Given the description of an element on the screen output the (x, y) to click on. 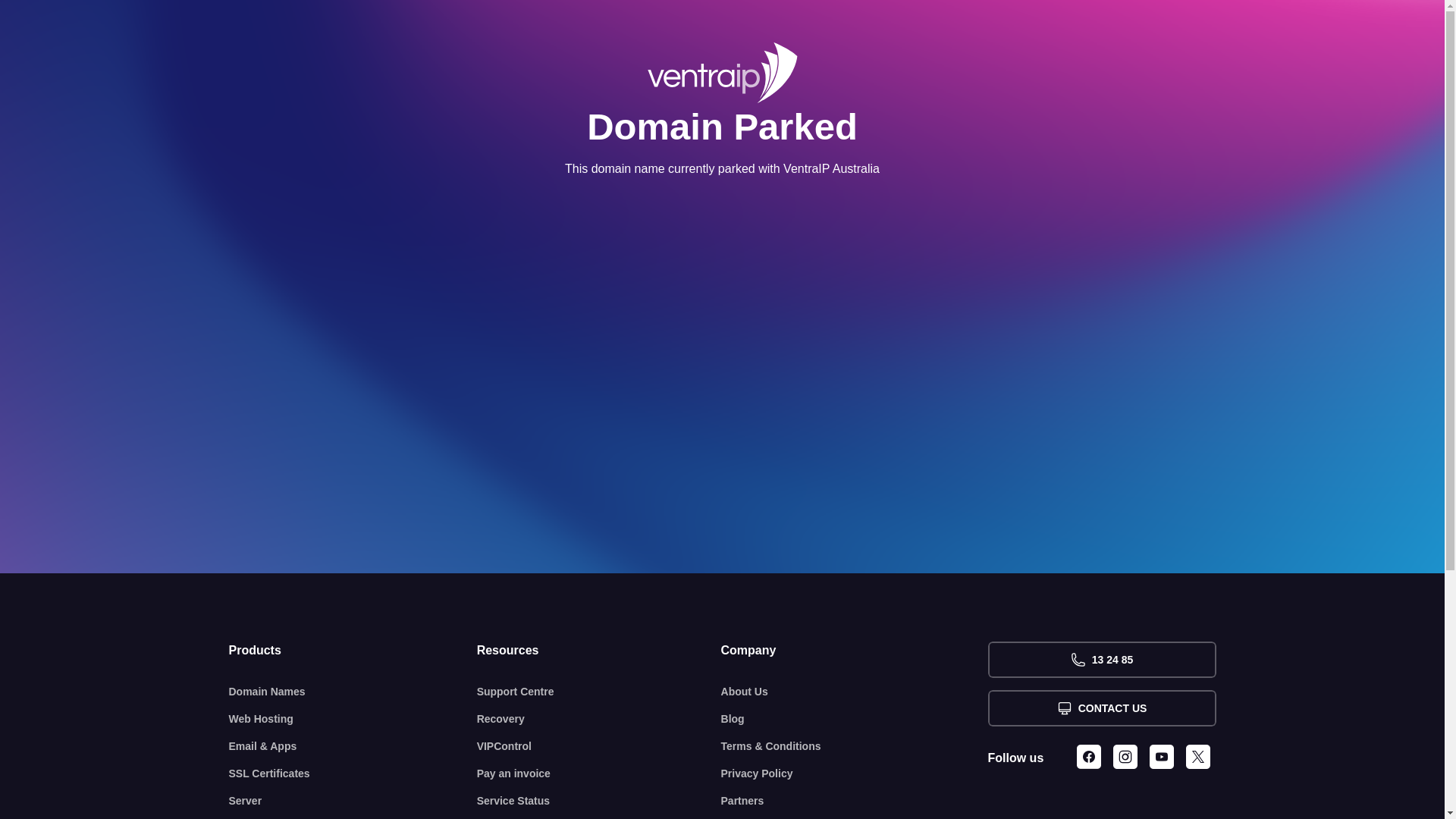
Domain Names Element type: text (352, 691)
Pay an invoice Element type: text (598, 773)
Blog Element type: text (854, 718)
Service Status Element type: text (598, 800)
Server Element type: text (352, 800)
Terms & Conditions Element type: text (854, 745)
Recovery Element type: text (598, 718)
About Us Element type: text (854, 691)
SSL Certificates Element type: text (352, 773)
13 24 85 Element type: text (1101, 659)
Support Centre Element type: text (598, 691)
CONTACT US Element type: text (1101, 708)
Partners Element type: text (854, 800)
VIPControl Element type: text (598, 745)
Email & Apps Element type: text (352, 745)
Web Hosting Element type: text (352, 718)
Privacy Policy Element type: text (854, 773)
